Given the description of an element on the screen output the (x, y) to click on. 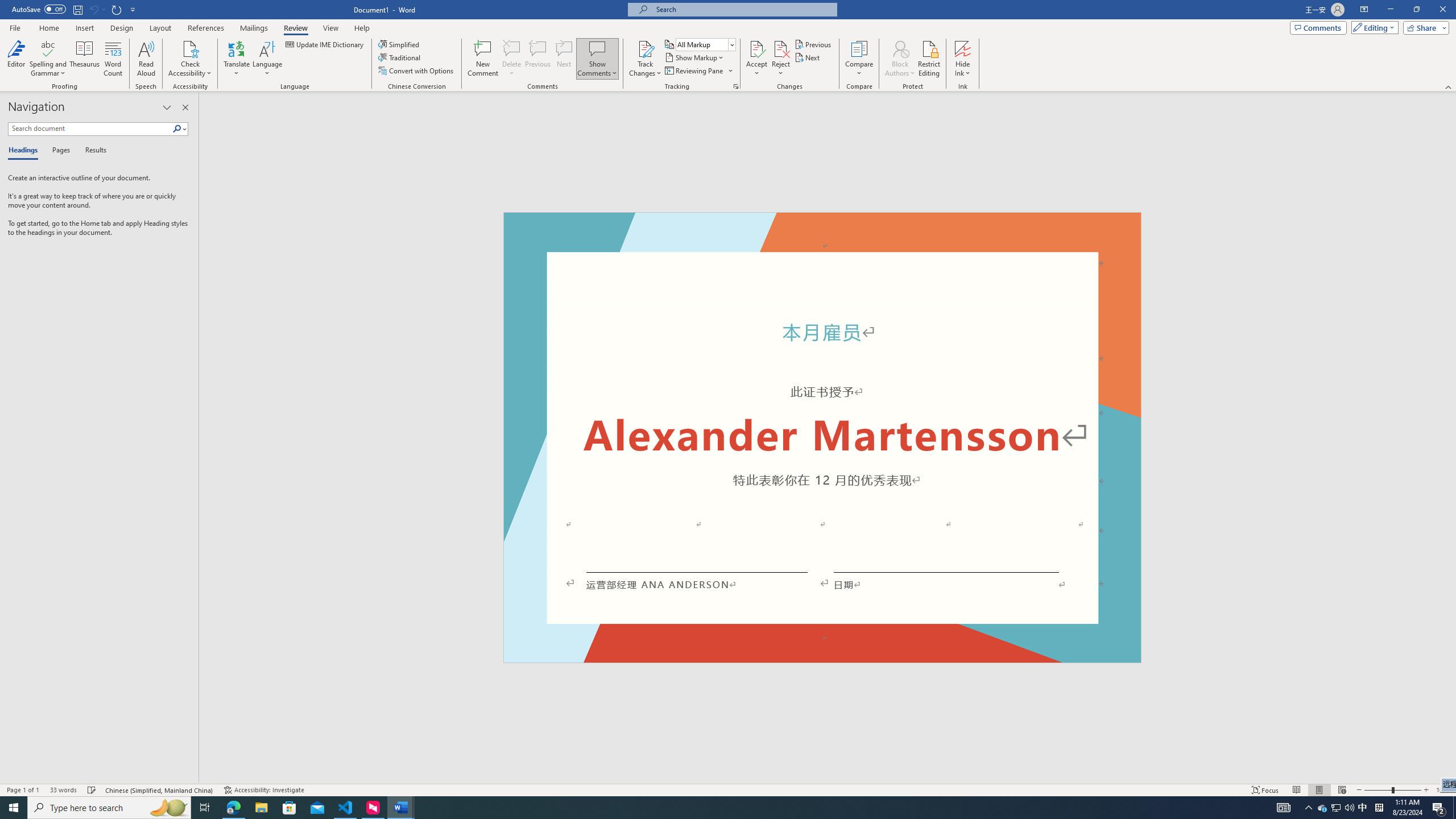
Ribbon Display Options (1364, 9)
Track Changes (644, 48)
Read Aloud (145, 58)
Repeat Doc Close (117, 9)
Print Layout (1318, 790)
Previous (813, 44)
Page Number Page 1 of 1 (22, 790)
Read Mode (1296, 790)
Check Accessibility (189, 48)
Collapse the Ribbon (1448, 86)
Page 1 content (822, 445)
Word Count (113, 58)
Web Layout (1342, 790)
Accept and Move to Next (756, 48)
